Given the description of an element on the screen output the (x, y) to click on. 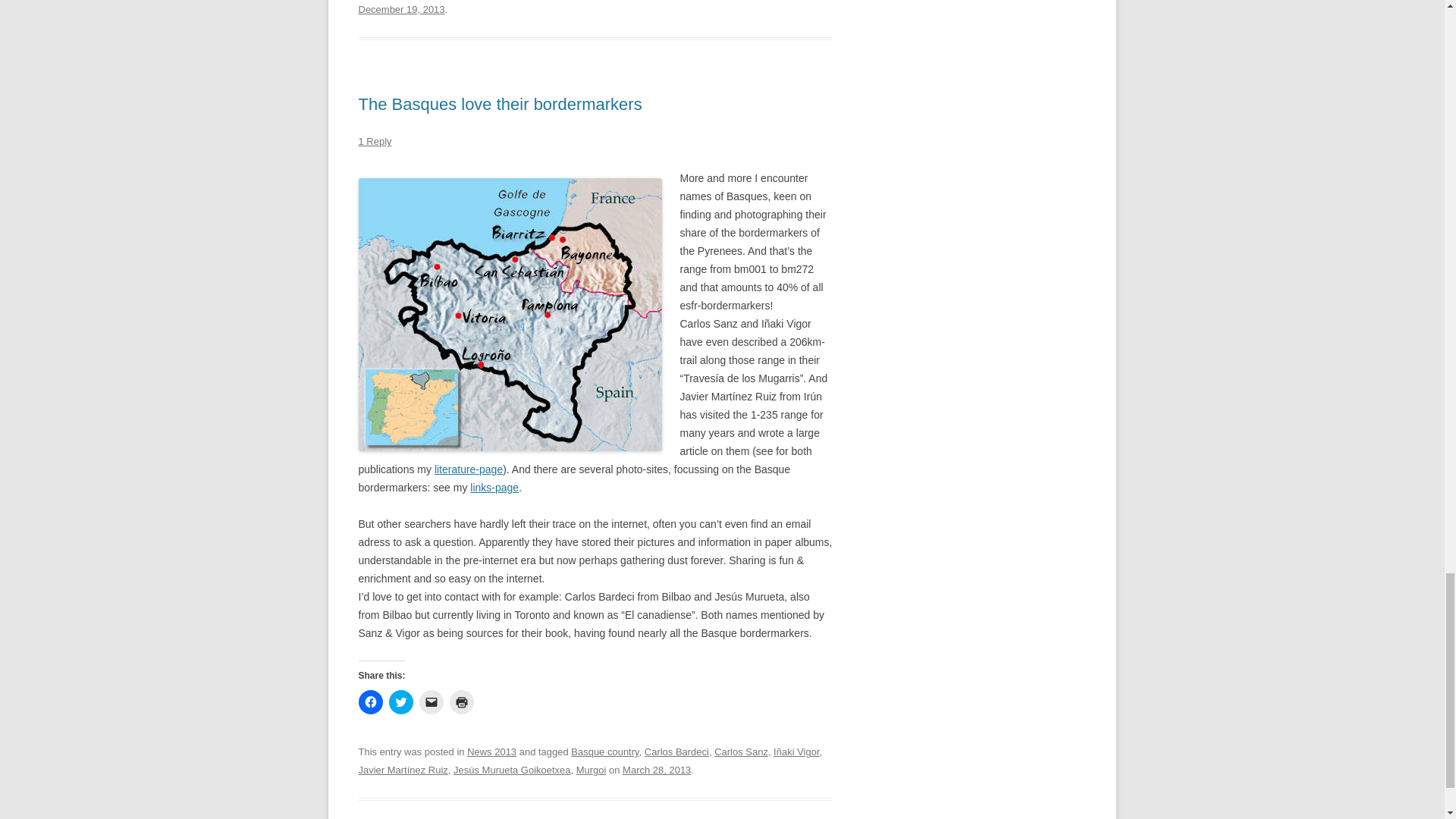
literature-page (467, 469)
The Basques love their bordermarkers (500, 104)
1 Reply (374, 141)
Click to share on Facebook (369, 702)
esfr-map-basque-country (509, 314)
December 19, 2013 (401, 9)
13:10 (401, 9)
